Given the description of an element on the screen output the (x, y) to click on. 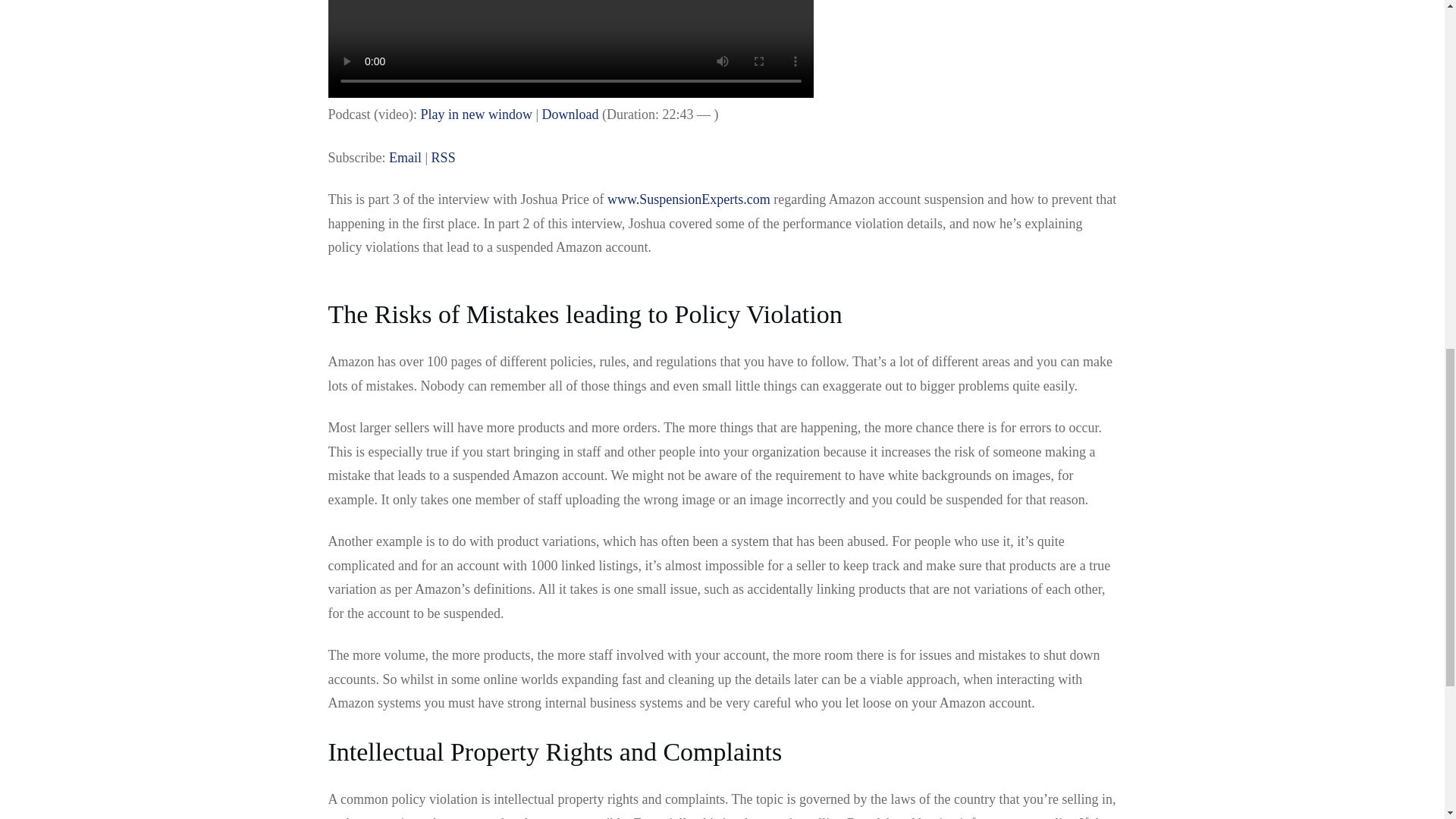
RSS (442, 157)
Play in new window (476, 114)
Download (569, 114)
www.SuspensionExperts.com (688, 199)
Email (405, 157)
Subscribe by Email (405, 157)
Subscribe via RSS (442, 157)
Download (569, 114)
Play in new window (476, 114)
